Given the description of an element on the screen output the (x, y) to click on. 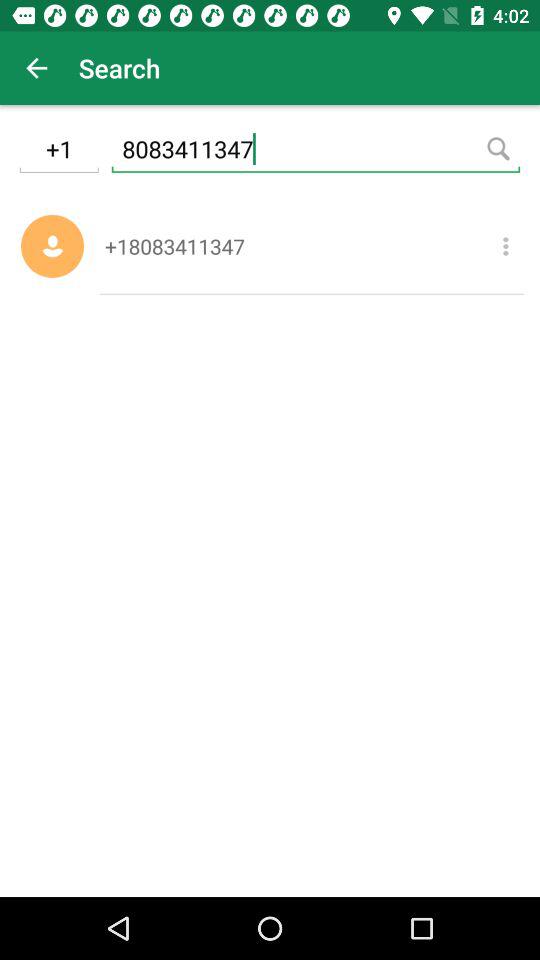
tap the item at the top right corner (505, 246)
